Given the description of an element on the screen output the (x, y) to click on. 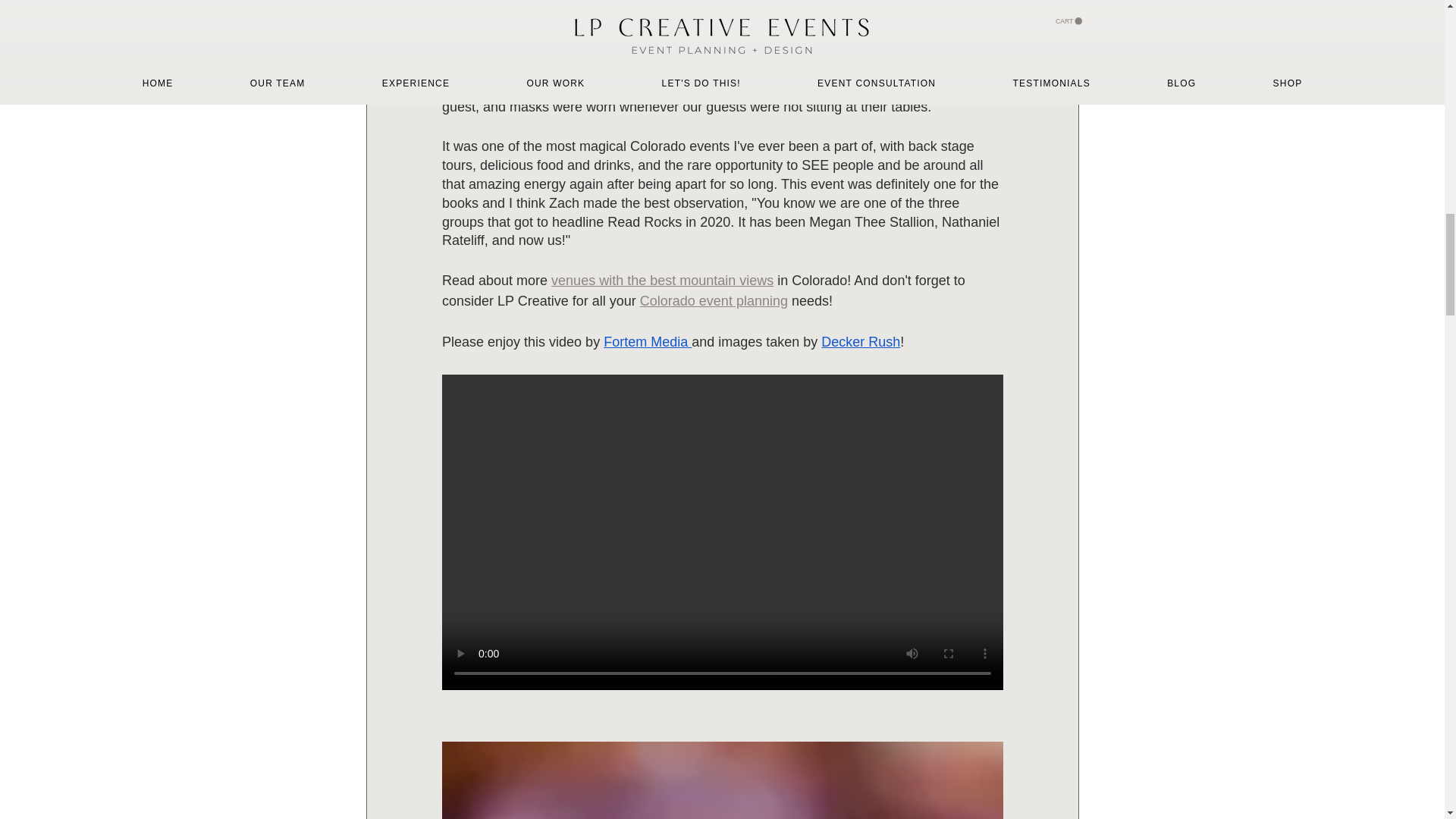
Colorado event planning (713, 300)
venues with the best mountain views (662, 280)
Fortem Media (645, 341)
Decker Rush (860, 341)
